Given the description of an element on the screen output the (x, y) to click on. 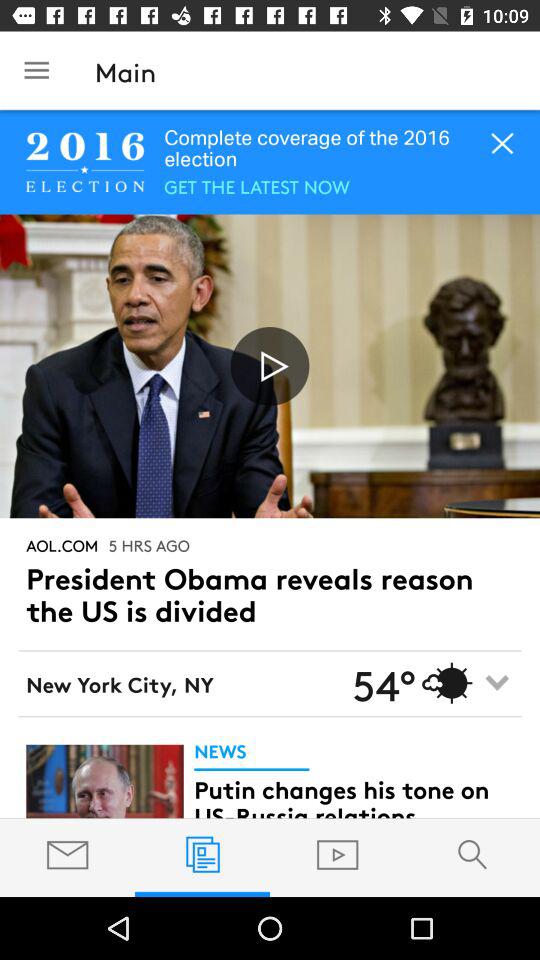
play video (270, 366)
